Given the description of an element on the screen output the (x, y) to click on. 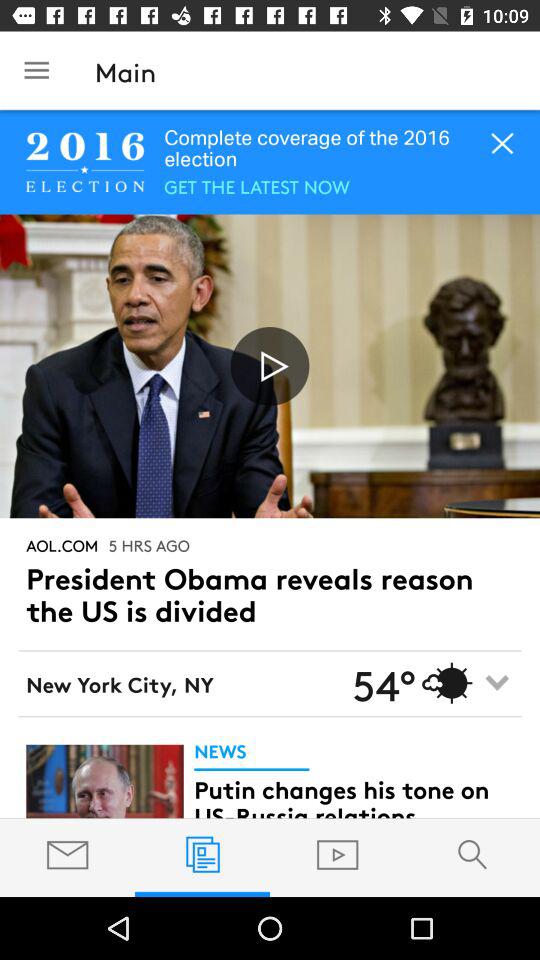
play video (270, 366)
